Given the description of an element on the screen output the (x, y) to click on. 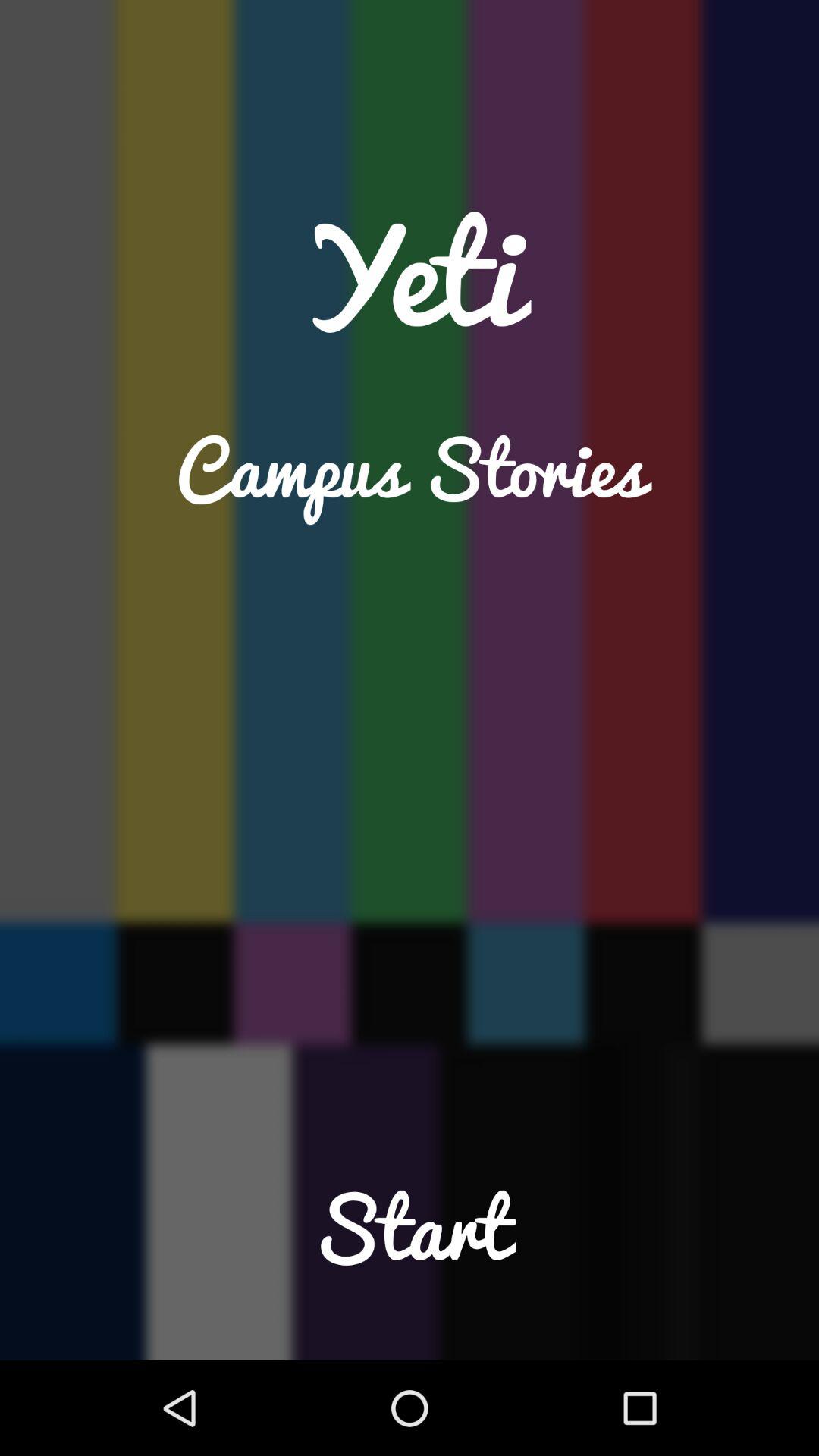
scroll until start app (409, 1259)
